Given the description of an element on the screen output the (x, y) to click on. 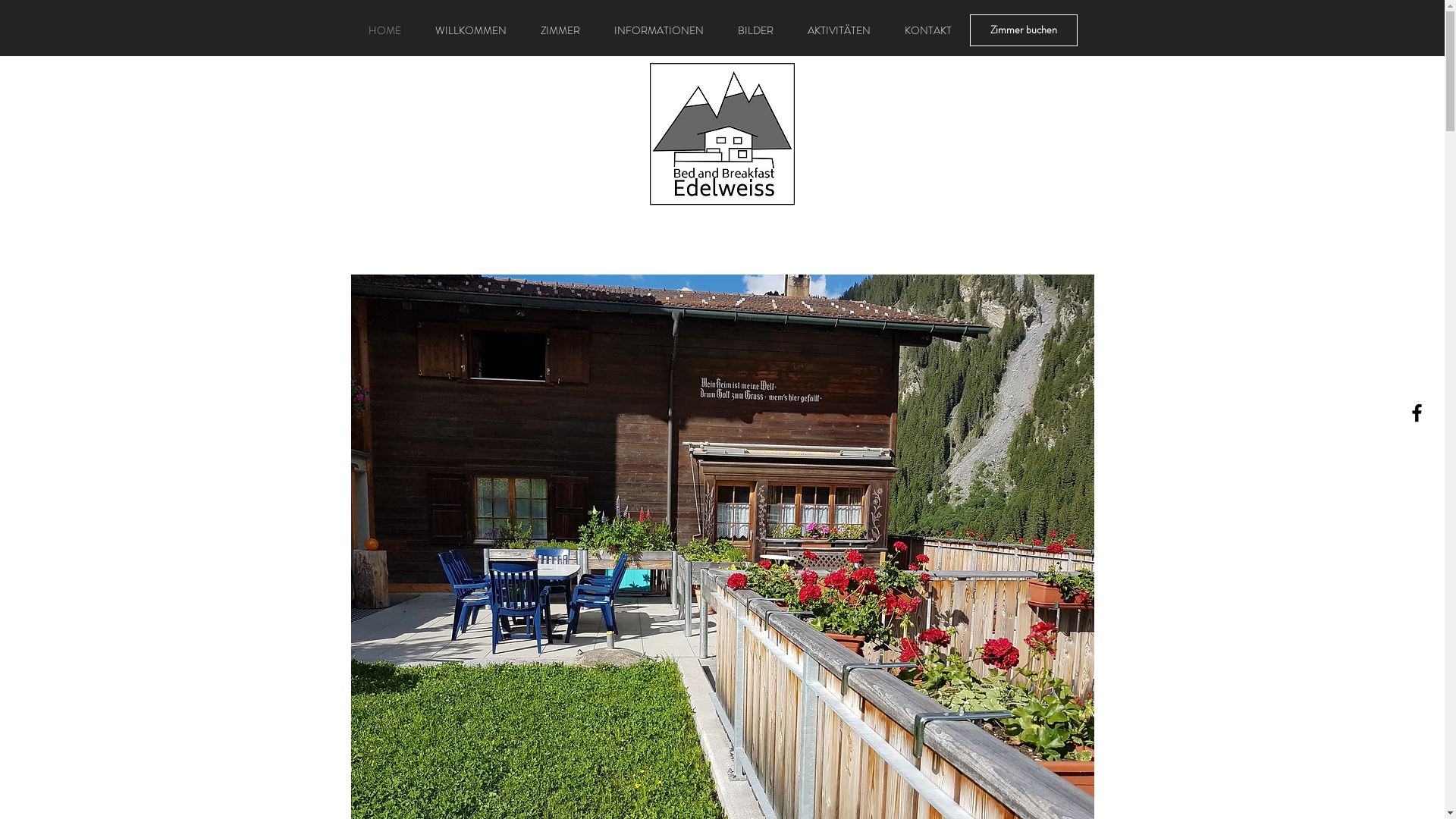
KONTAKT Element type: text (927, 30)
BILDER Element type: text (755, 30)
WILLKOMMEN Element type: text (471, 30)
INFORMATIONEN Element type: text (659, 30)
HOME Element type: text (383, 30)
Zimmer buchen Element type: text (1022, 30)
ZIMMER Element type: text (559, 30)
